Given the description of an element on the screen output the (x, y) to click on. 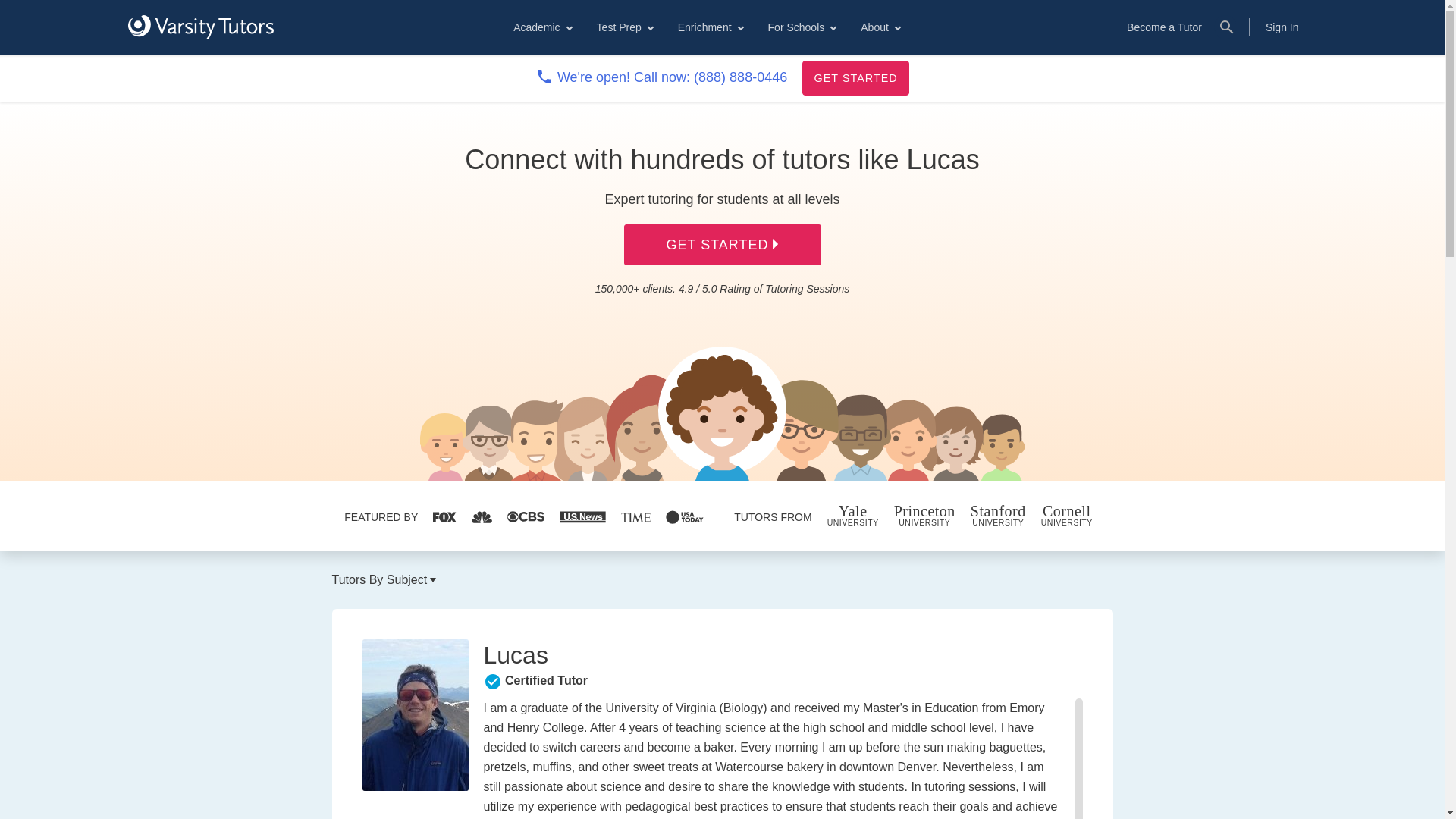
GET STARTED (855, 77)
Varsity Tutors (200, 26)
Academic (541, 27)
Varsity Tutors (200, 27)
